Given the description of an element on the screen output the (x, y) to click on. 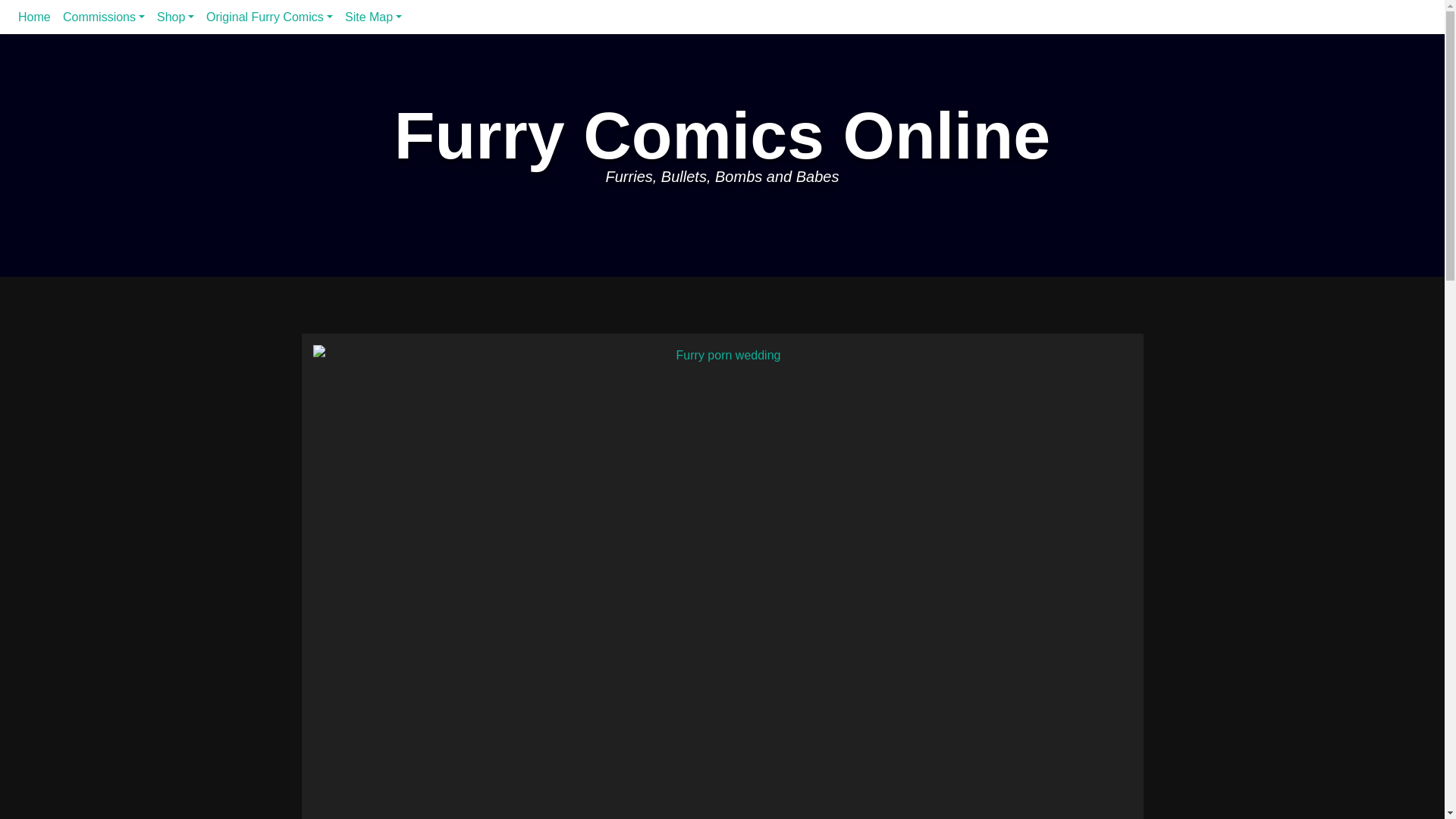
Home (33, 16)
Home (33, 16)
Shop (175, 16)
Commissions (103, 16)
Commissions (103, 16)
Site Map (373, 16)
Original Furry Comics (269, 16)
Site Map (373, 16)
Shop (175, 16)
Original Furry Comics (269, 16)
